Given the description of an element on the screen output the (x, y) to click on. 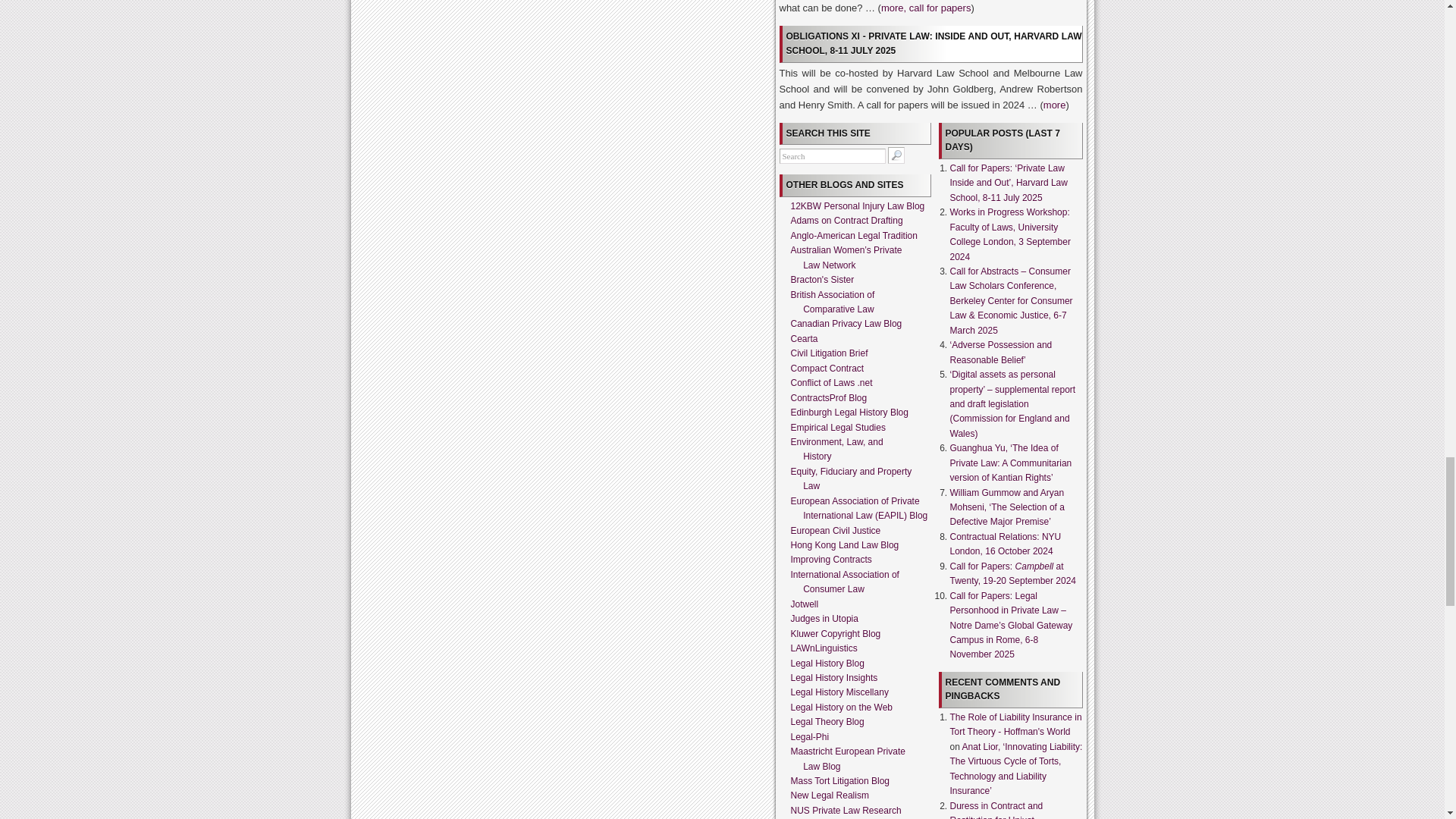
Call for Papers: Campbell at Twenty, 19-20 September 2024 (1012, 573)
Search (831, 155)
